Given the description of an element on the screen output the (x, y) to click on. 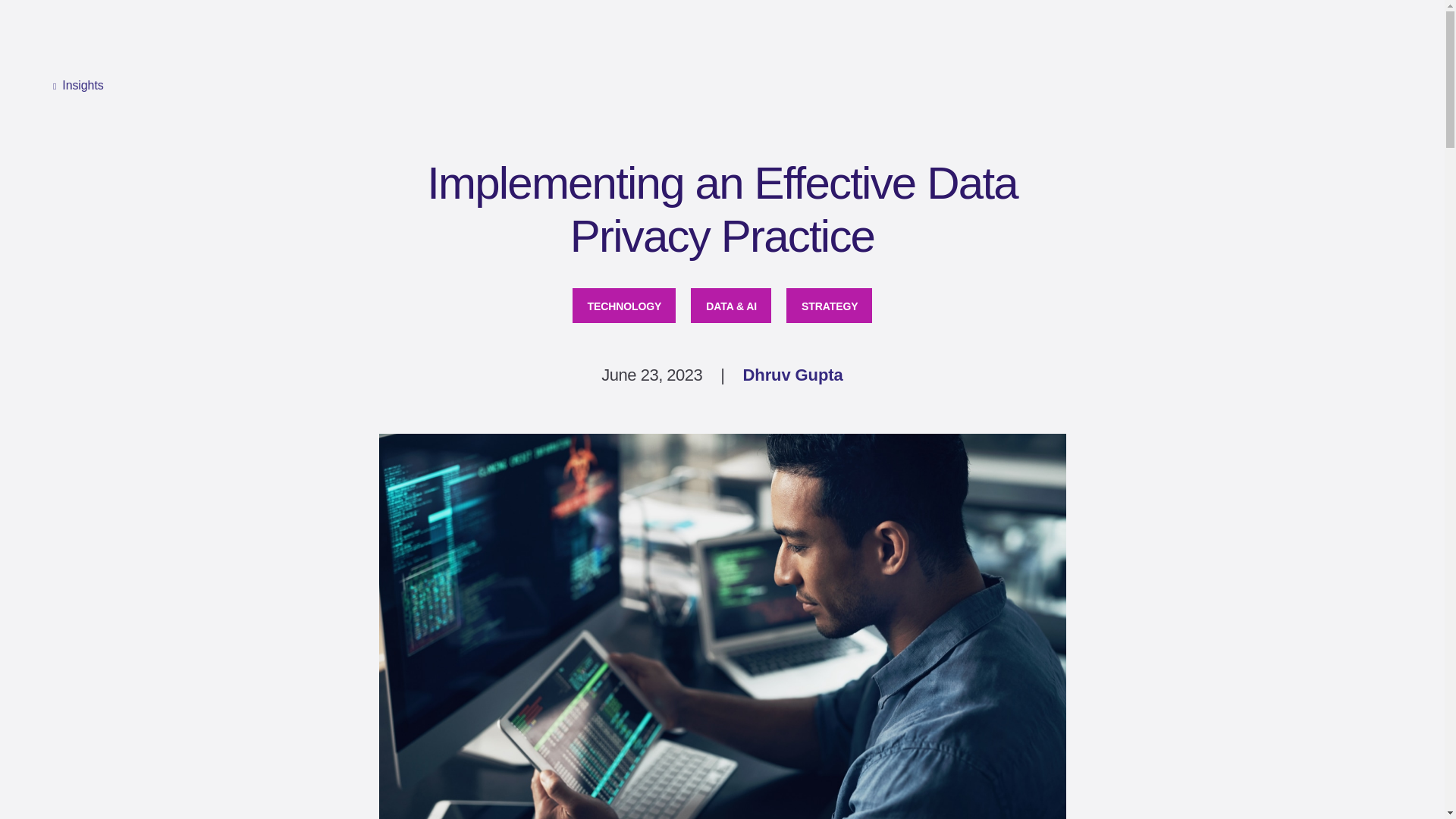
Dhruv Gupta (792, 374)
TECHNOLOGY (624, 305)
STRATEGY (829, 305)
Insights (77, 86)
